Given the description of an element on the screen output the (x, y) to click on. 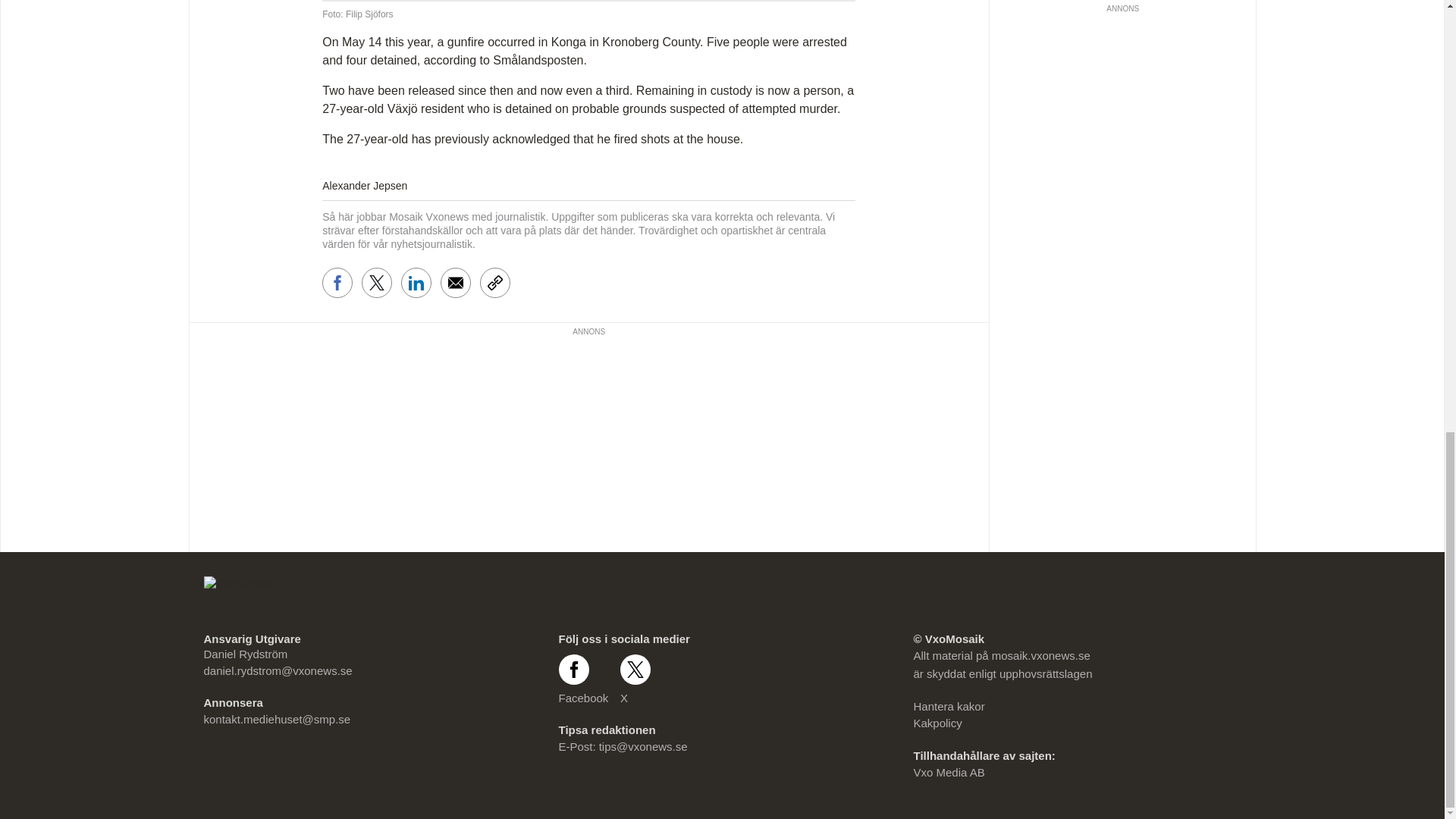
Facebook (582, 679)
Kakpolicy (936, 723)
mosaik.vxonews.se (1040, 655)
